Given the description of an element on the screen output the (x, y) to click on. 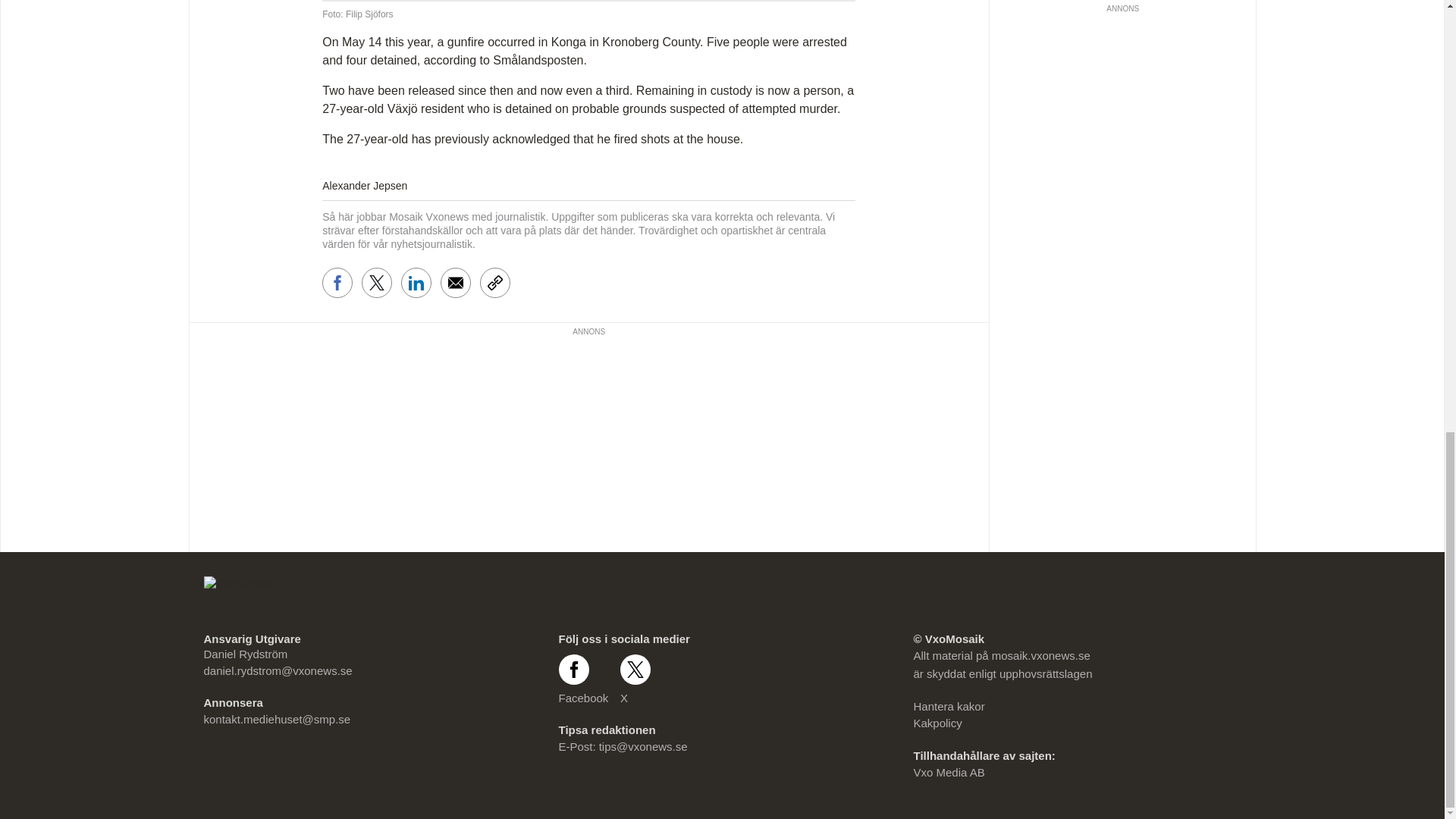
Facebook (582, 679)
Kakpolicy (936, 723)
mosaik.vxonews.se (1040, 655)
